Given the description of an element on the screen output the (x, y) to click on. 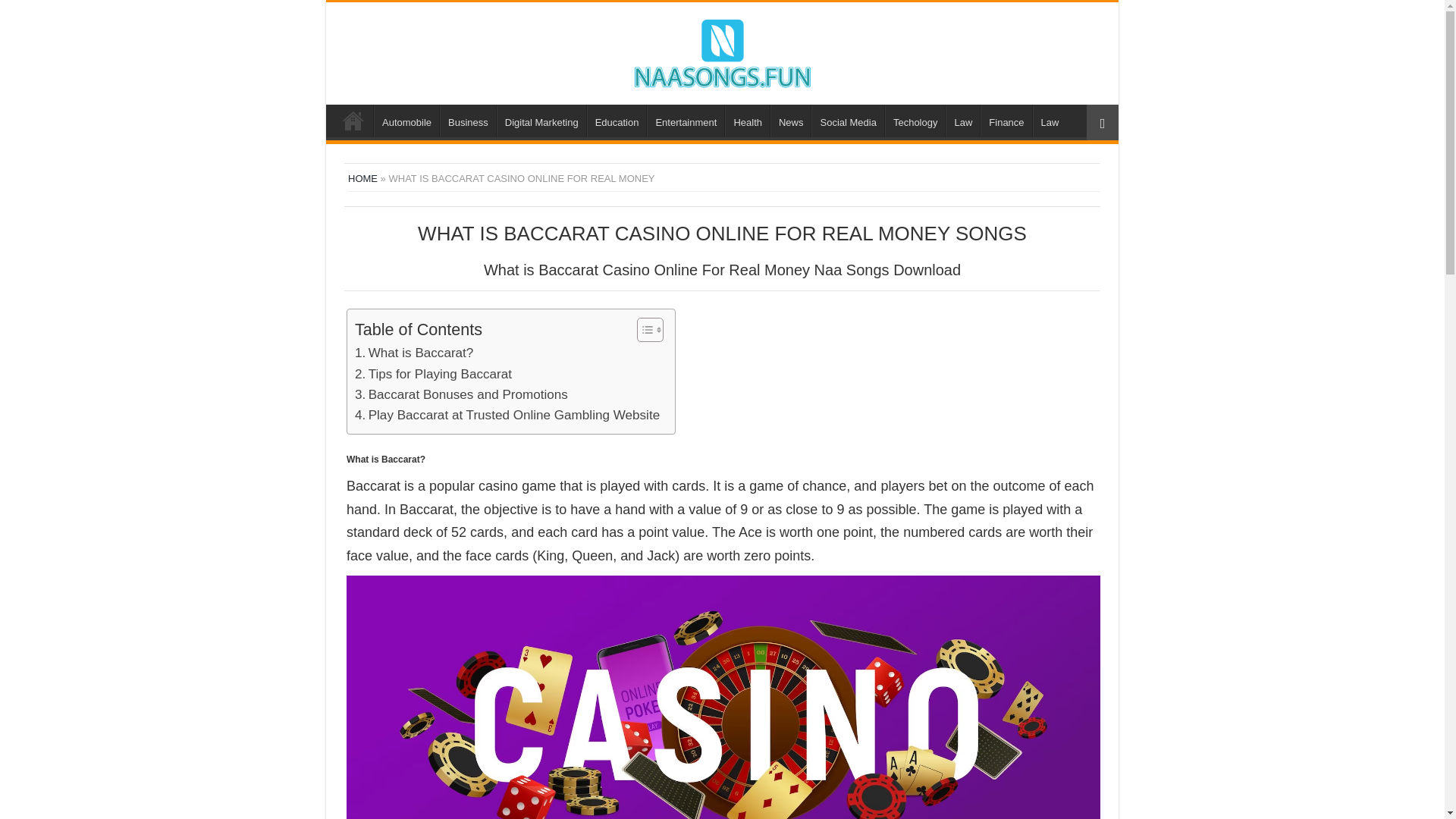
Home (352, 120)
Education (616, 120)
Baccarat Bonuses and Promotions (461, 394)
Automobile (406, 120)
Finance (1004, 120)
Tips for Playing Baccarat (433, 373)
What is Baccarat? (414, 353)
Law (1049, 120)
Baccarat Bonuses and Promotions (461, 394)
News (790, 120)
